Given the description of an element on the screen output the (x, y) to click on. 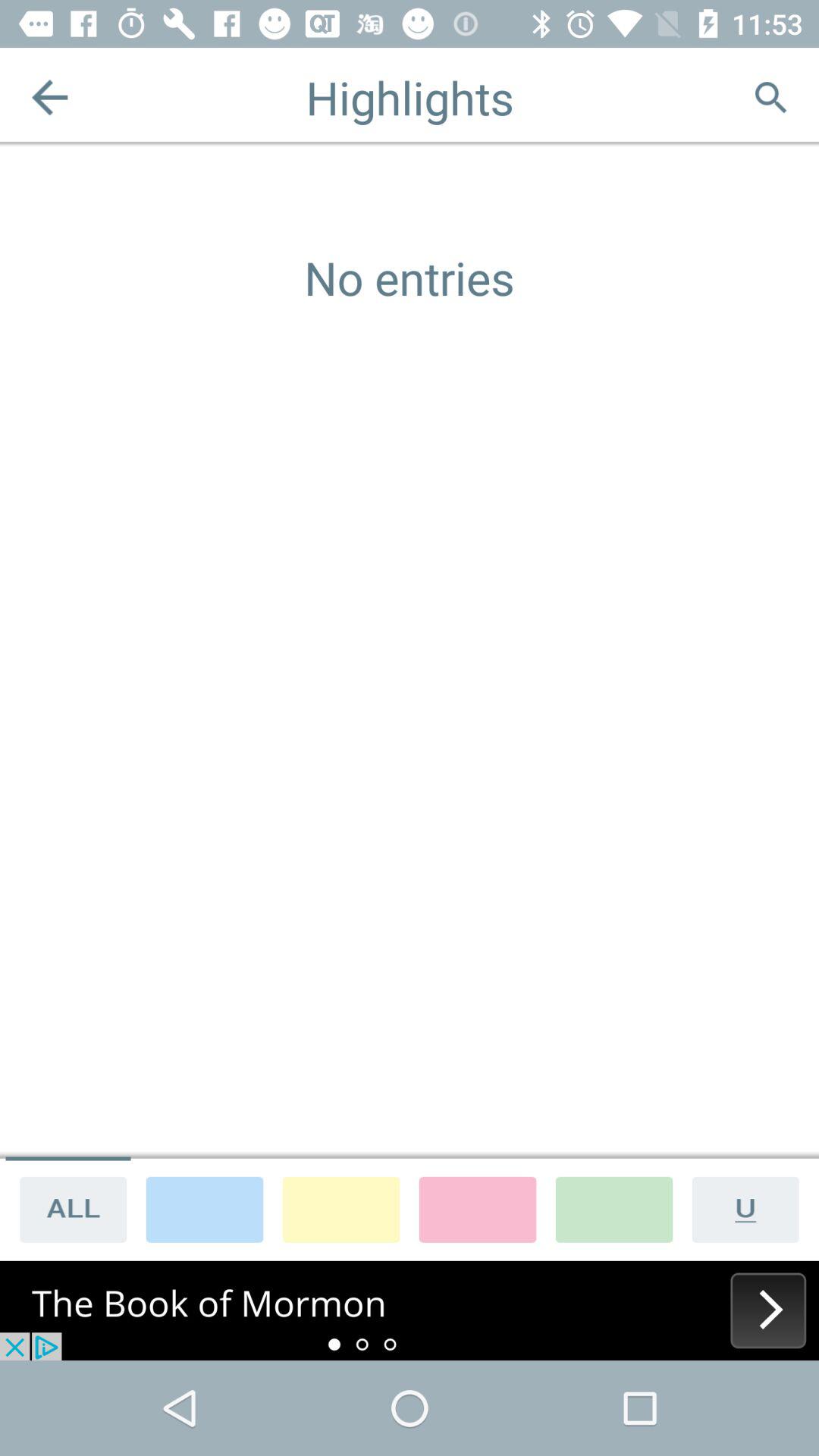
click advertisement (409, 1310)
